Given the description of an element on the screen output the (x, y) to click on. 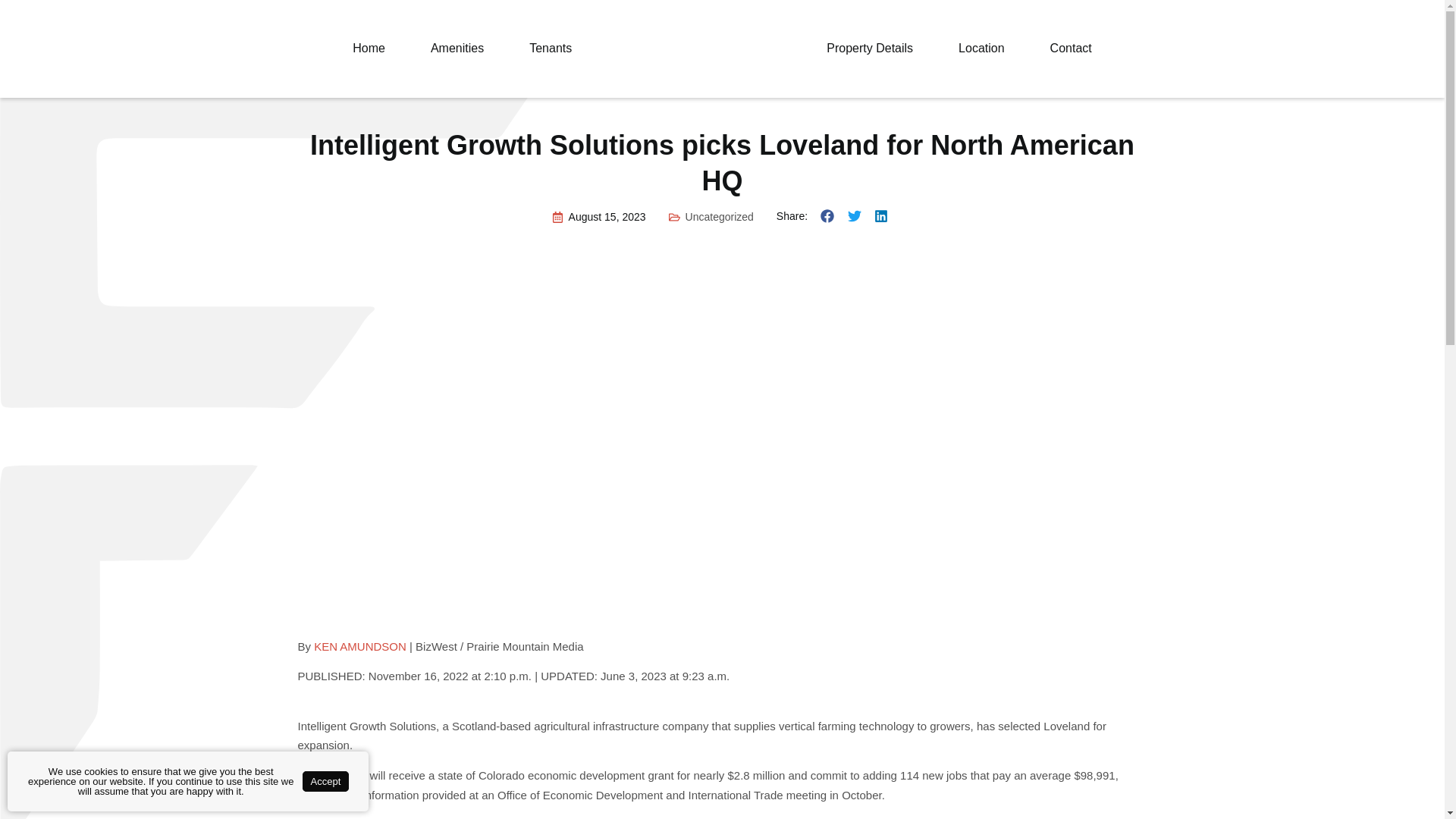
KEN AMUNDSON (360, 645)
Contact (1070, 48)
Location (981, 48)
Amenities (456, 48)
August 15, 2023 (598, 217)
Property Details (869, 48)
Home (368, 48)
Tenants (549, 48)
Uncategorized (719, 216)
